Given the description of an element on the screen output the (x, y) to click on. 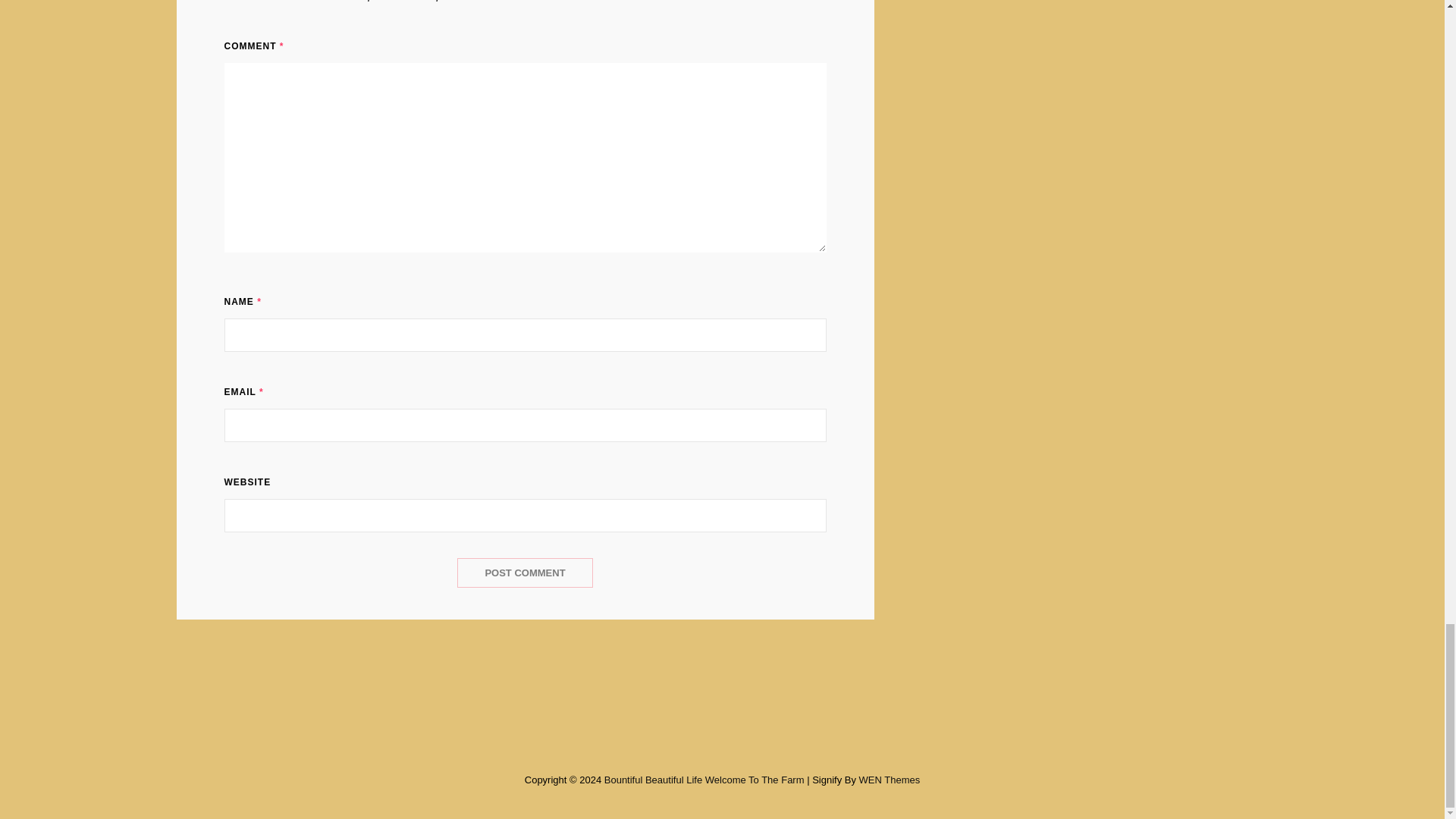
Post Comment (524, 572)
Welcome To The Farm (754, 779)
Post Comment (524, 572)
Bountiful Beautiful Life (652, 779)
WEN Themes (889, 779)
